Given the description of an element on the screen output the (x, y) to click on. 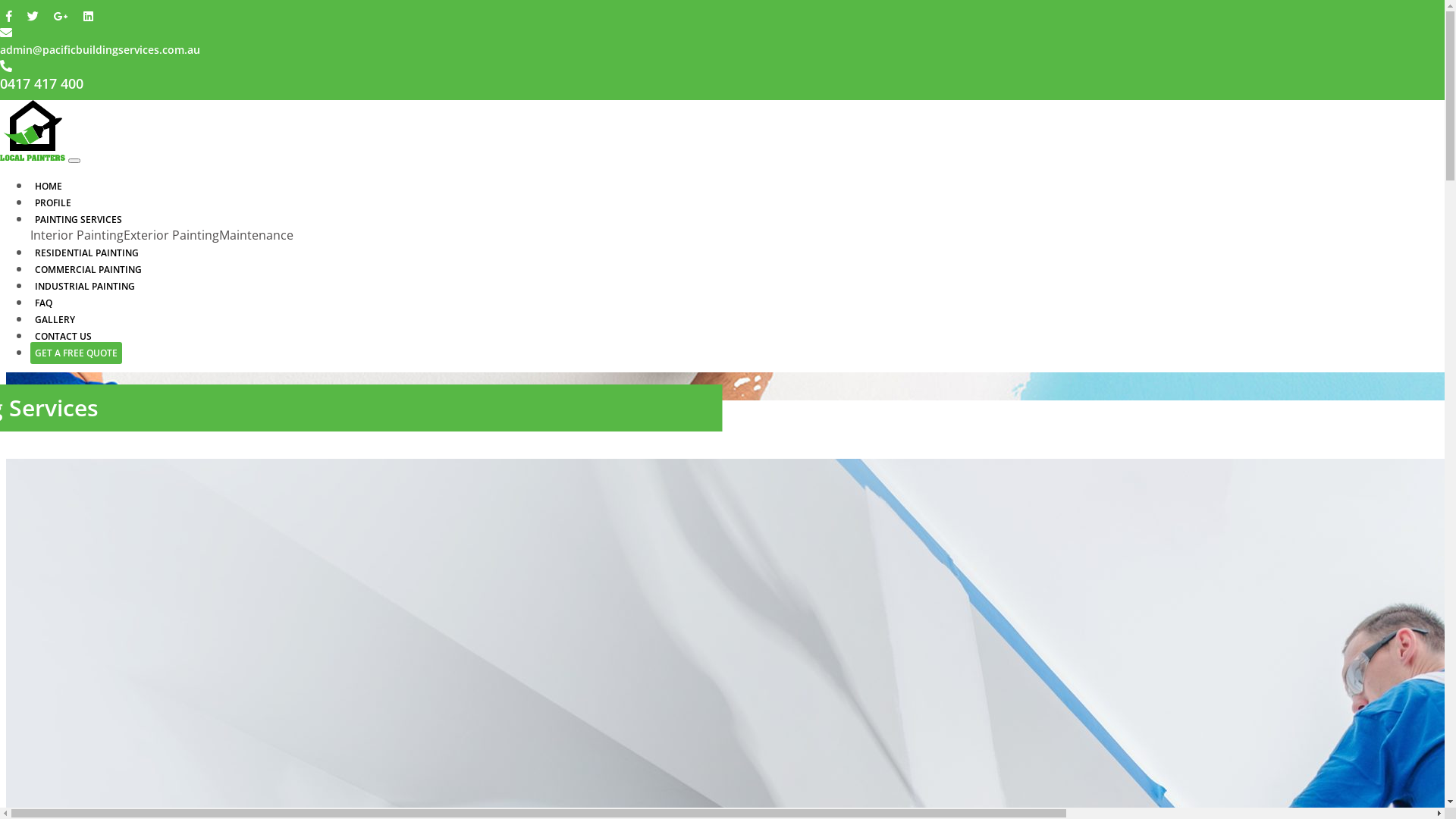
Maintenance Element type: text (256, 234)
INDUSTRIAL PAINTING Element type: text (84, 286)
FAQ Element type: text (43, 302)
COMMERCIAL PAINTING Element type: text (88, 269)
HOME Element type: text (48, 186)
PAINTING SERVICES Element type: text (78, 219)
Interior Painting Element type: text (76, 234)
RESIDENTIAL PAINTING Element type: text (86, 252)
Exterior Painting Element type: text (171, 234)
GET A FREE QUOTE Element type: text (76, 353)
CONTACT US Element type: text (63, 336)
0417 417 400 Element type: text (41, 83)
PROFILE Element type: text (52, 202)
GALLERY Element type: text (54, 319)
admin@pacificbuildingservices.com.au Element type: text (100, 48)
